Given the description of an element on the screen output the (x, y) to click on. 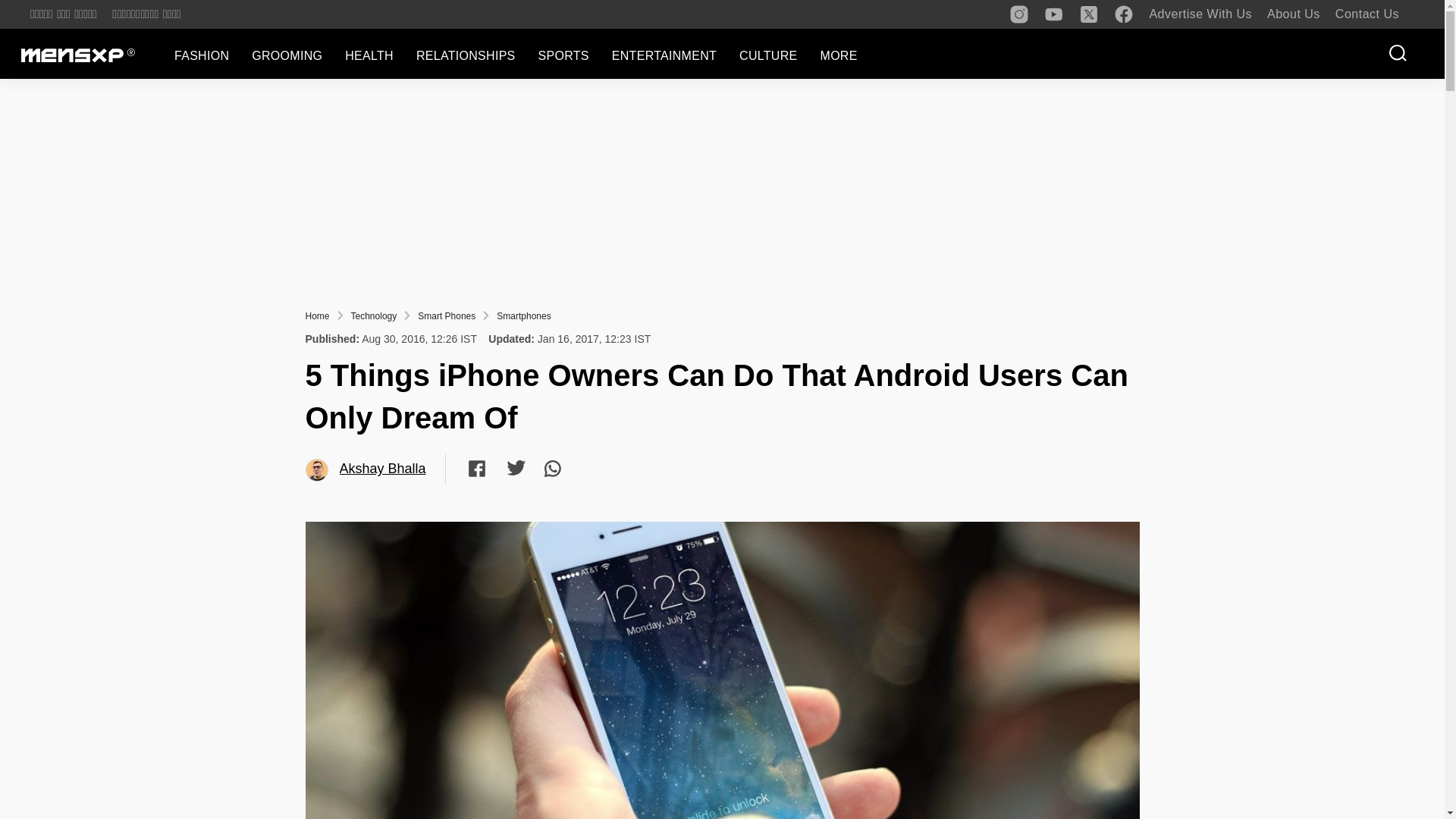
Technology (373, 316)
Advertise With Us (1200, 13)
About Us (1293, 13)
Advertise With Us (1200, 13)
Contact Us  (1367, 13)
Smart Phones (446, 316)
Smartphones (523, 316)
Akshay Bhalla (317, 470)
Contact Us (1367, 13)
Home (316, 316)
About Us (1293, 13)
